Given the description of an element on the screen output the (x, y) to click on. 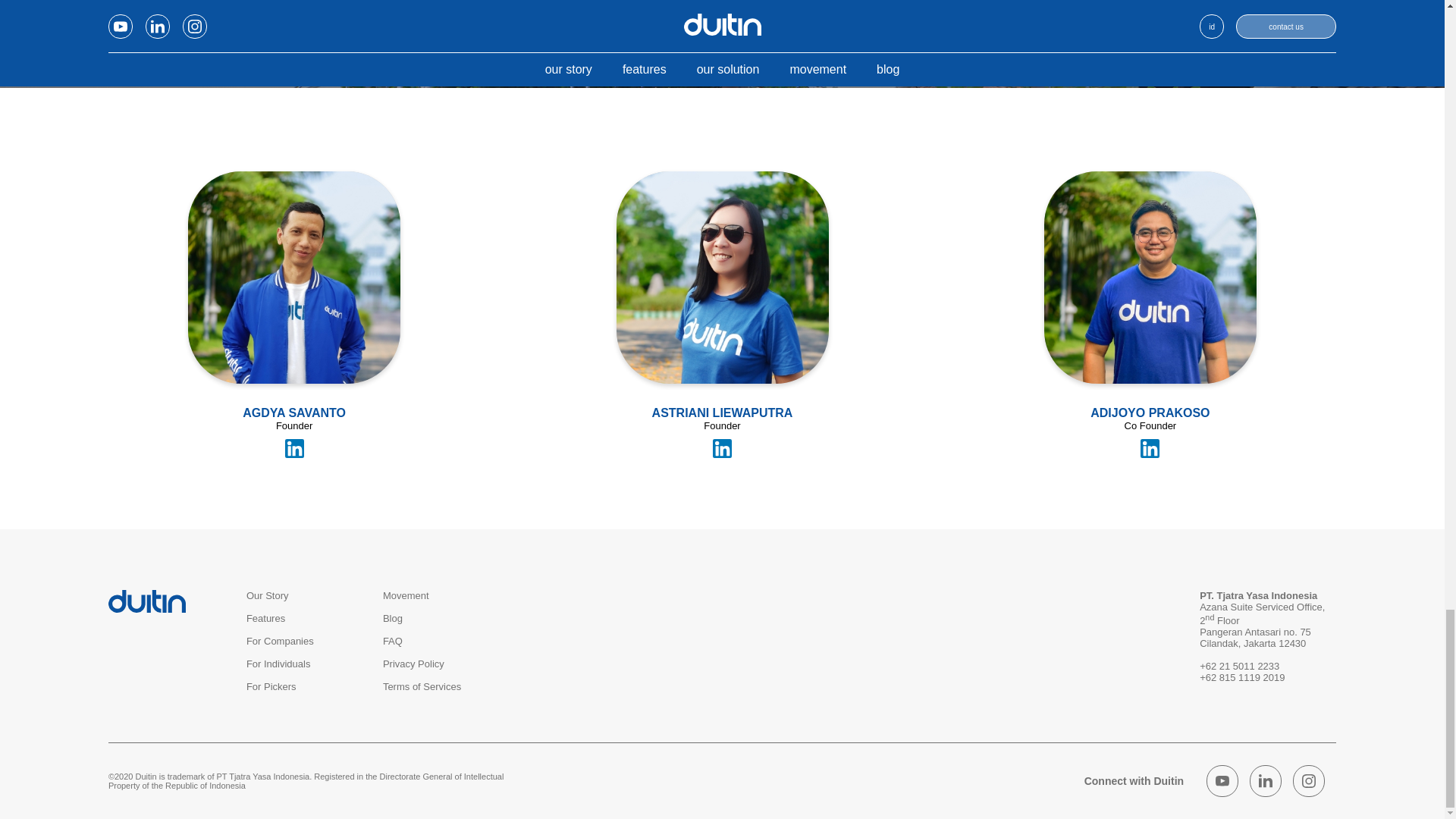
Blog (392, 618)
Movement (405, 595)
Terms of Services (421, 686)
Our Story (267, 595)
Features (265, 618)
FAQ (392, 641)
Privacy Policy (413, 663)
For Pickers (271, 686)
For Individuals (278, 663)
For Companies (280, 641)
